Given the description of an element on the screen output the (x, y) to click on. 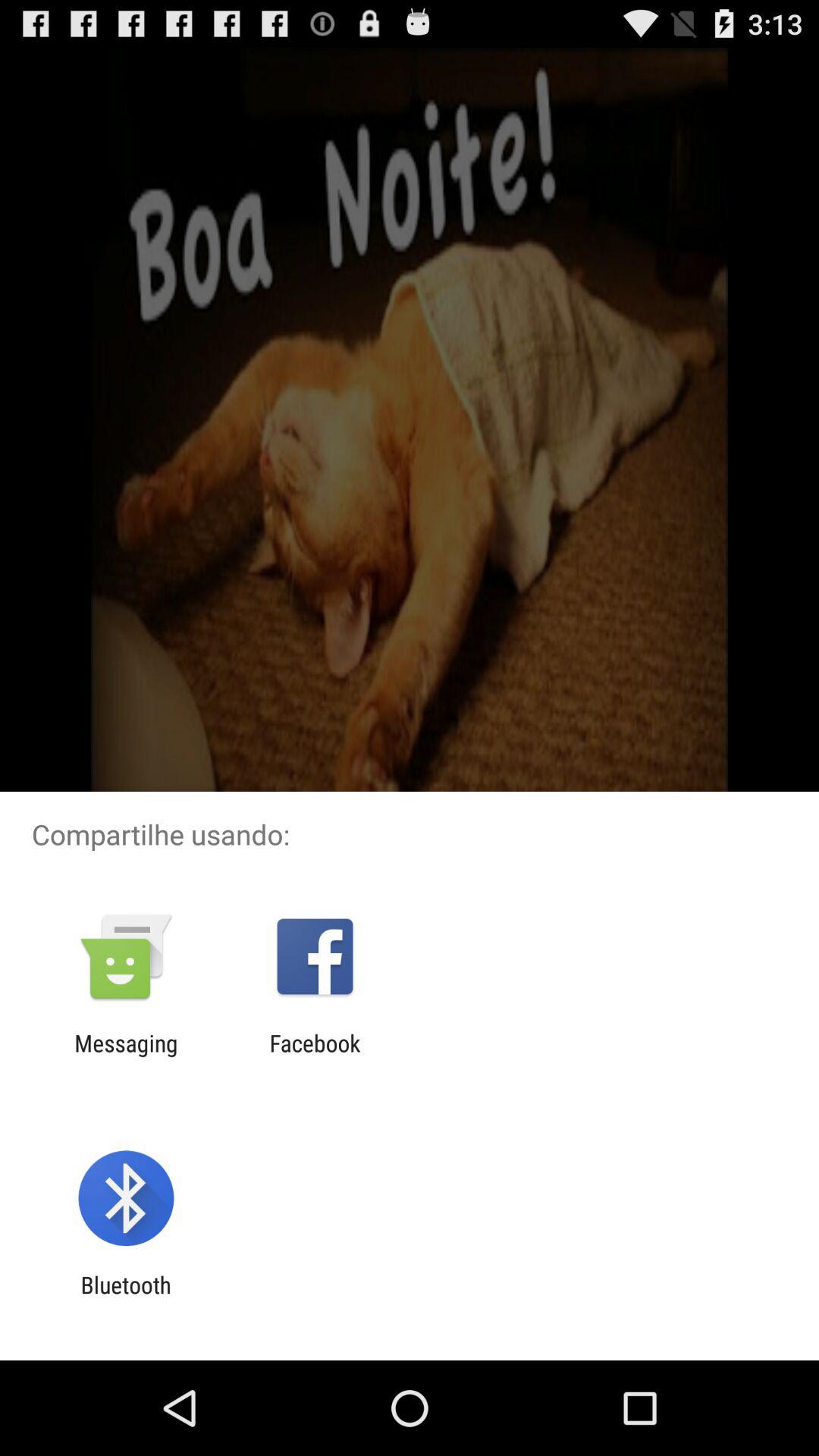
jump to the messaging app (126, 1056)
